Given the description of an element on the screen output the (x, y) to click on. 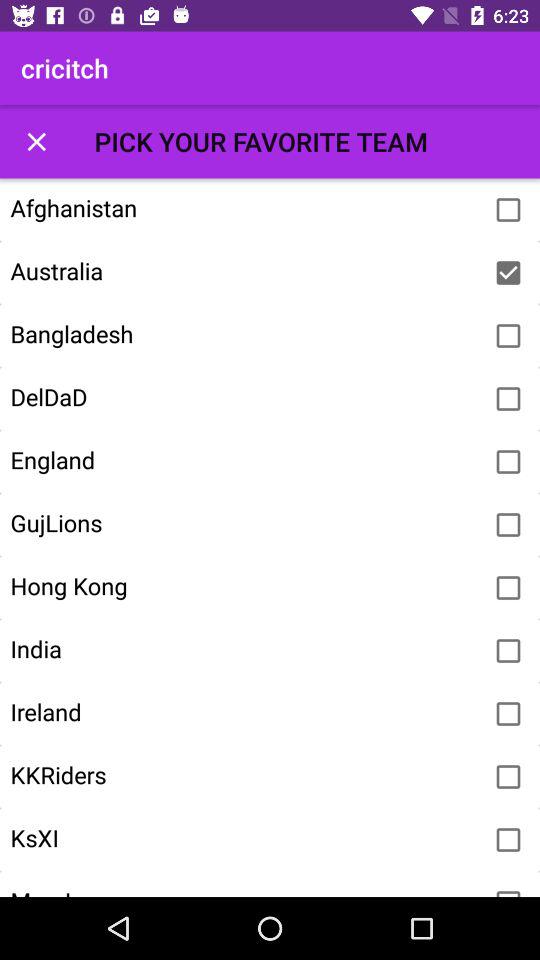
select option (508, 651)
